Given the description of an element on the screen output the (x, y) to click on. 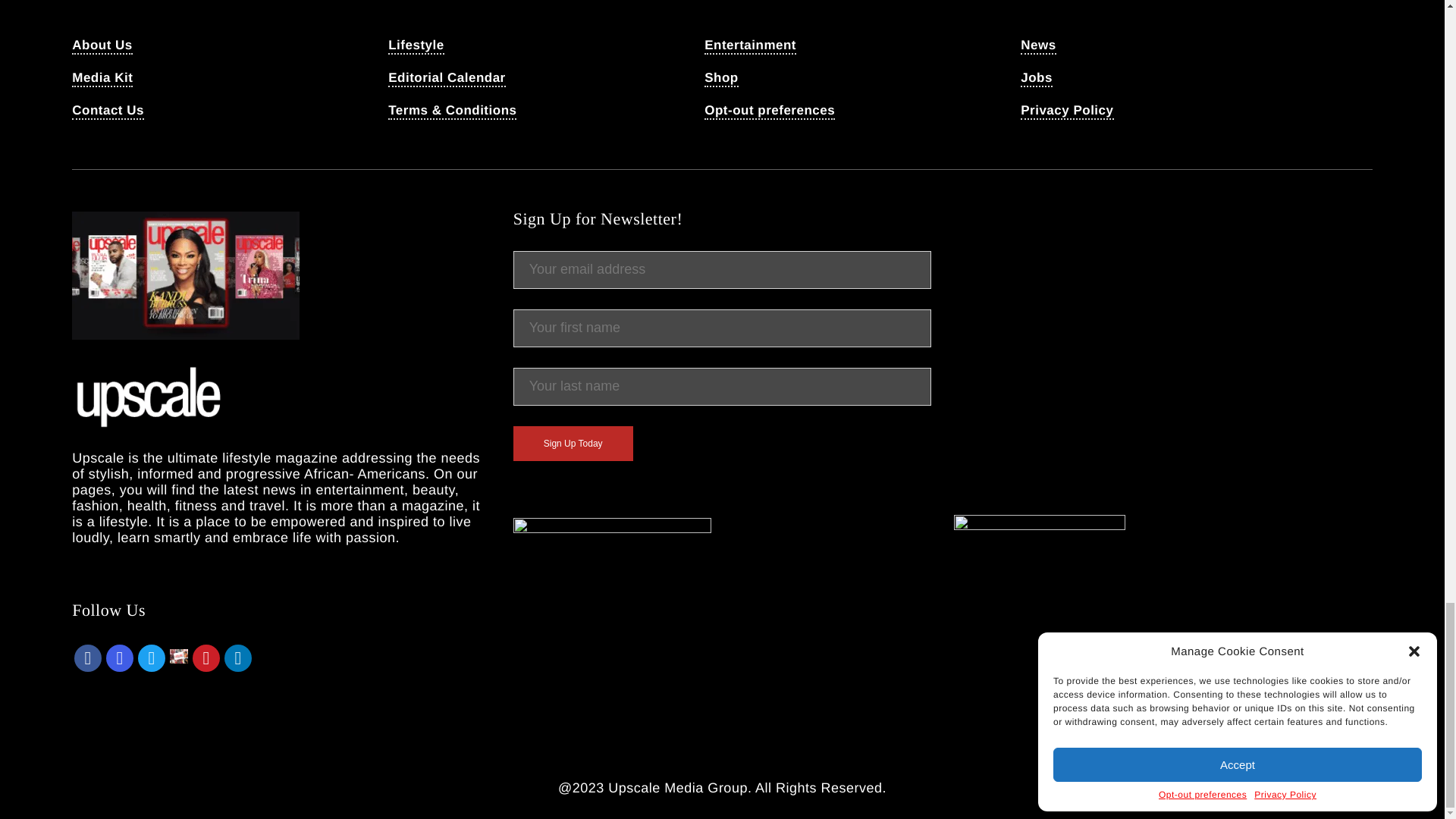
facebook (87, 657)
instagram (119, 658)
Sign Up Today (573, 443)
facebook (87, 658)
instagram (119, 657)
